Given the description of an element on the screen output the (x, y) to click on. 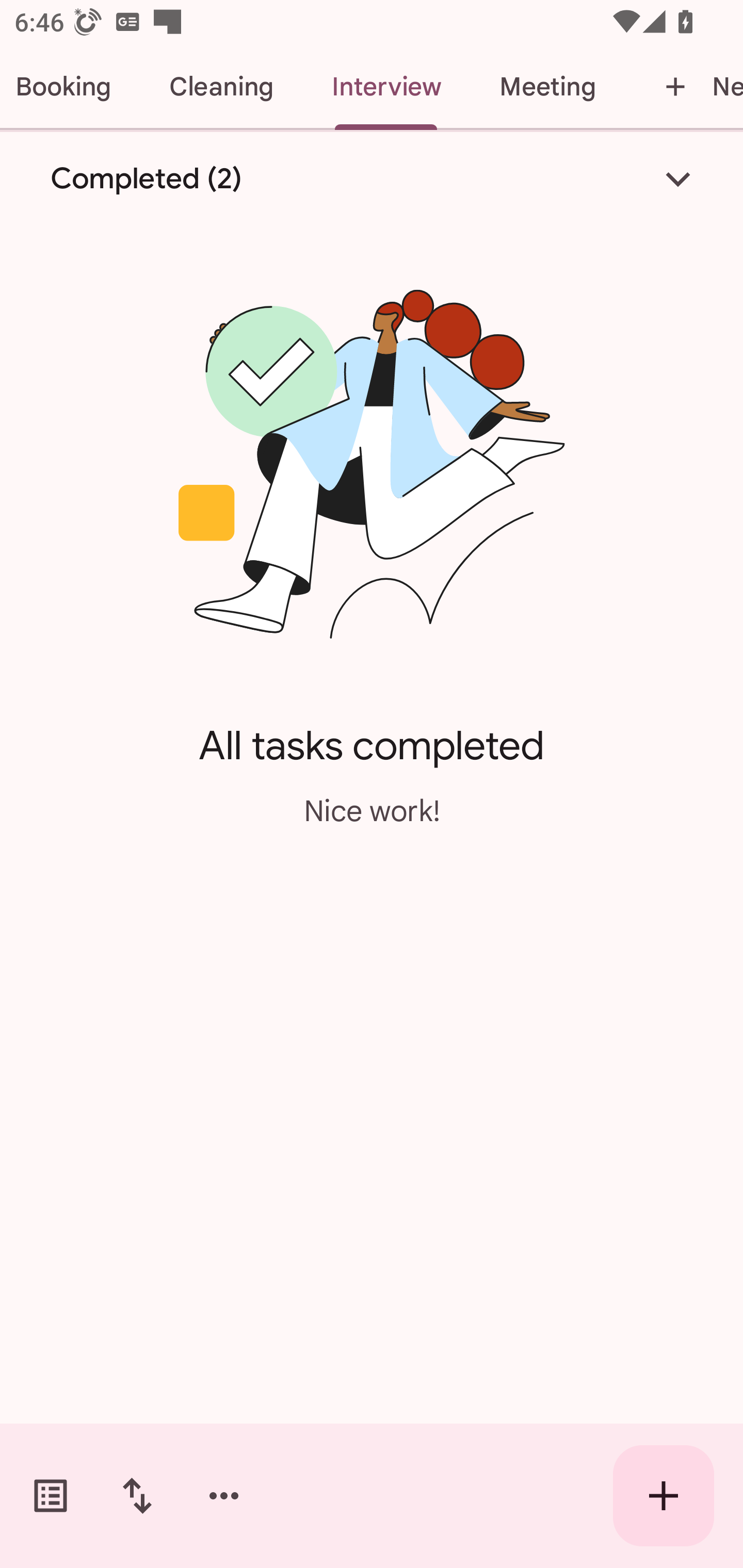
Hotel Booking (69, 86)
Cleaning (220, 86)
Meeting (547, 86)
Completed (2) (371, 178)
Switch task lists (50, 1495)
Create new task (663, 1495)
Change sort order (136, 1495)
More options (223, 1495)
